Given the description of an element on the screen output the (x, y) to click on. 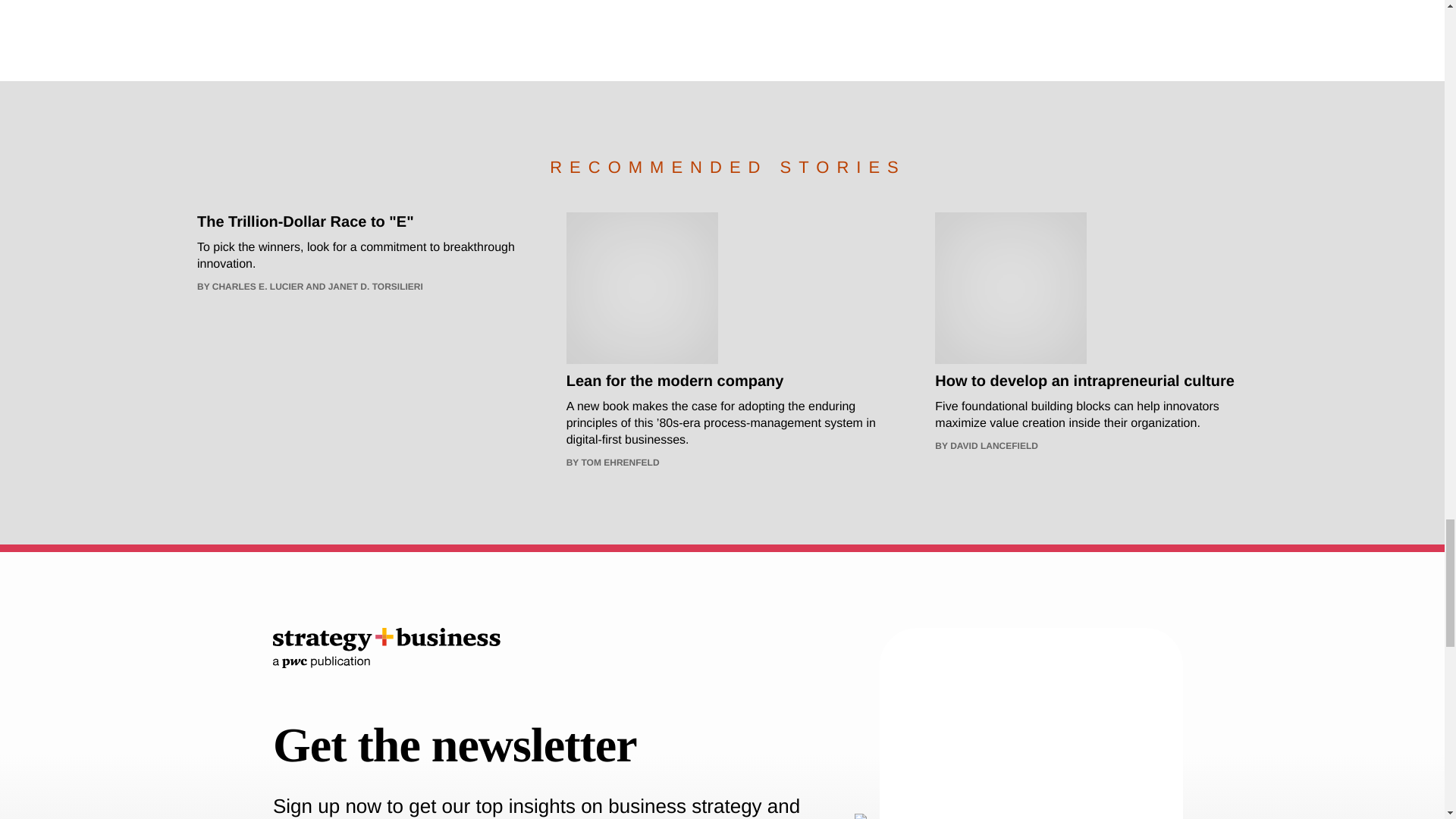
Mature businessman holding a unicorn figurine (641, 287)
Newsletters (1031, 728)
